Given the description of an element on the screen output the (x, y) to click on. 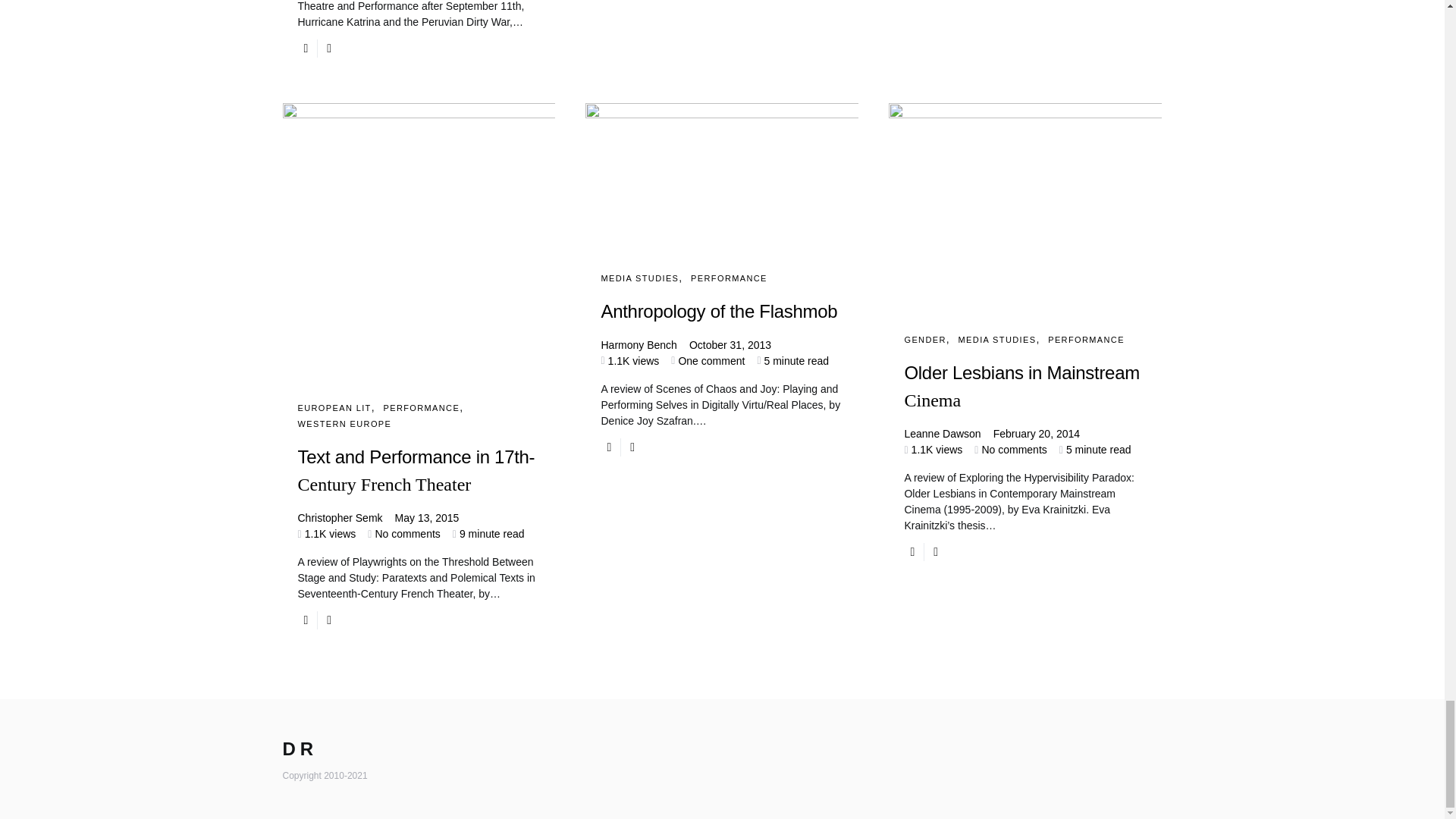
View all posts by Christopher Semk (339, 518)
View all posts by Harmony Bench (638, 344)
Text and Performance in 17th-Century French Theater (418, 484)
Anthropology of the Flashmob (721, 311)
